Given the description of an element on the screen output the (x, y) to click on. 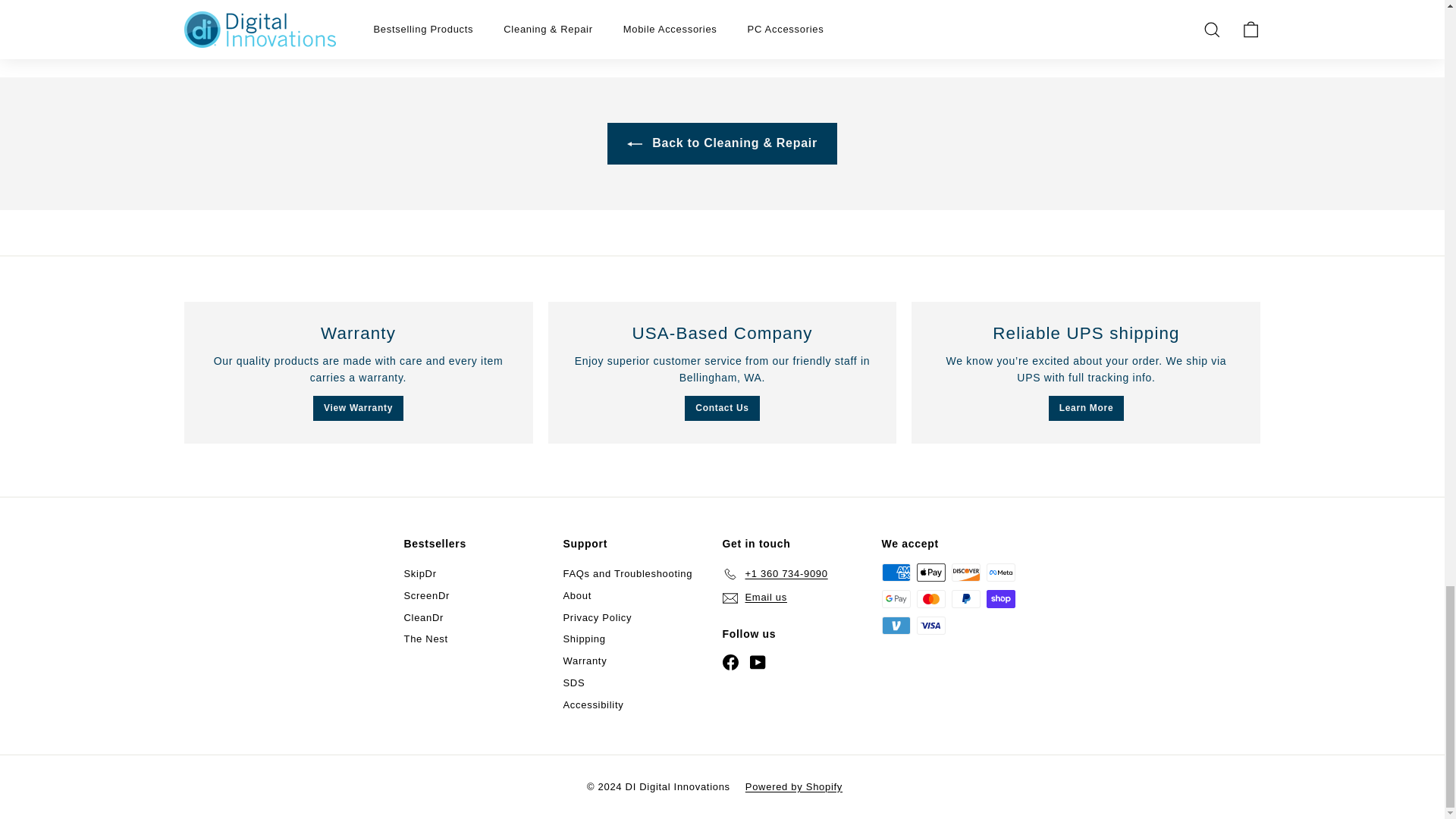
Venmo (895, 625)
Mastercard (929, 598)
DI Digital Innovations on Facebook (730, 662)
DI Digital Innovations on YouTube (757, 662)
Google Pay (895, 598)
Meta Pay (999, 572)
Visa (929, 625)
Discover (964, 572)
PayPal (964, 598)
Shop Pay (999, 598)
